Given the description of an element on the screen output the (x, y) to click on. 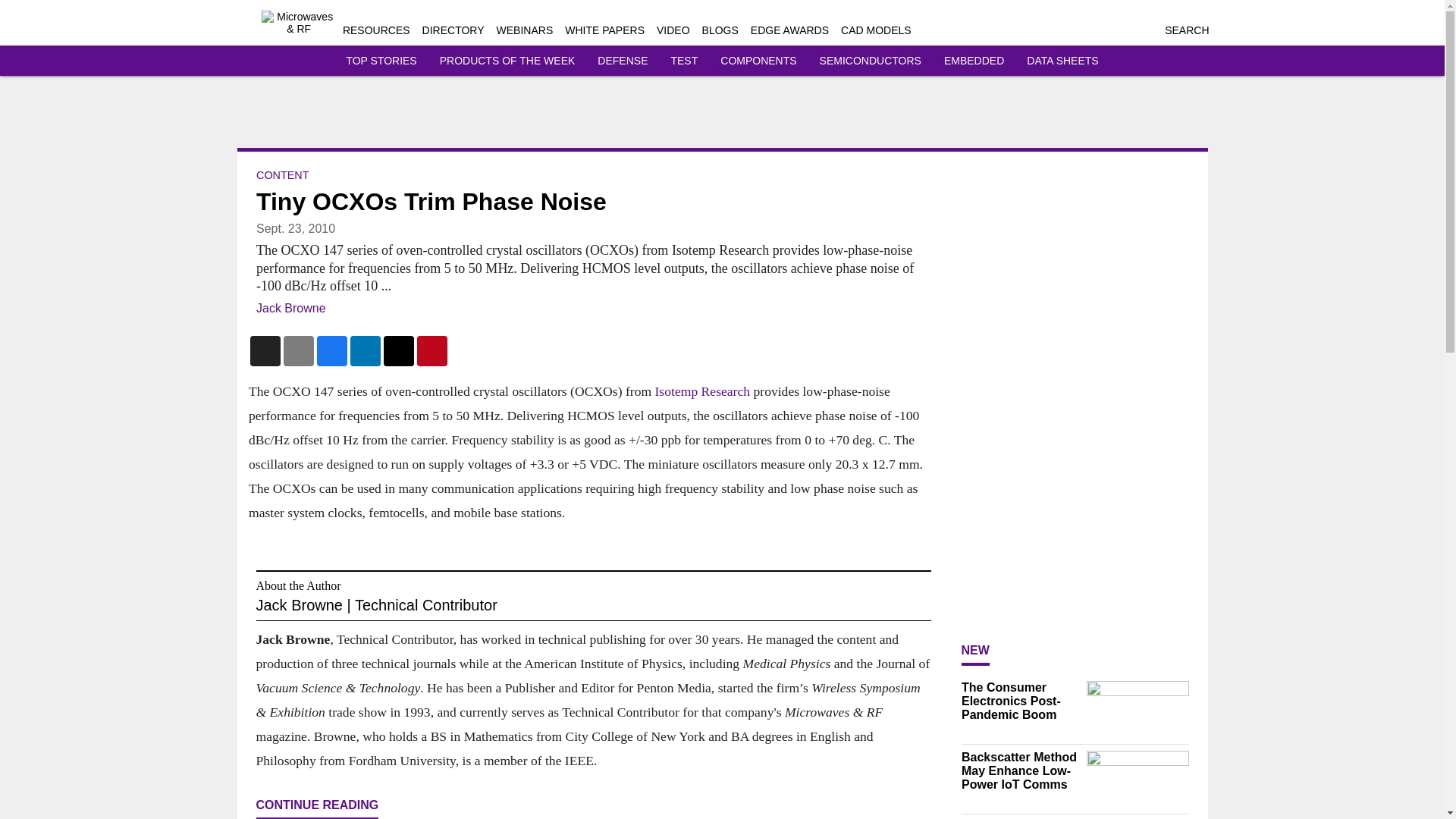
TEST (683, 60)
RESOURCES (376, 30)
BLOGS (719, 30)
TOP STORIES (381, 60)
PRODUCTS OF THE WEEK (507, 60)
EMBEDDED (973, 60)
WEBINARS (524, 30)
Jack Browne (291, 308)
Isotemp Research (701, 391)
VIDEO (673, 30)
DEFENSE (621, 60)
DATA SHEETS (1061, 60)
SEARCH (1186, 30)
WHITE PAPERS (604, 30)
SEMICONDUCTORS (870, 60)
